Given the description of an element on the screen output the (x, y) to click on. 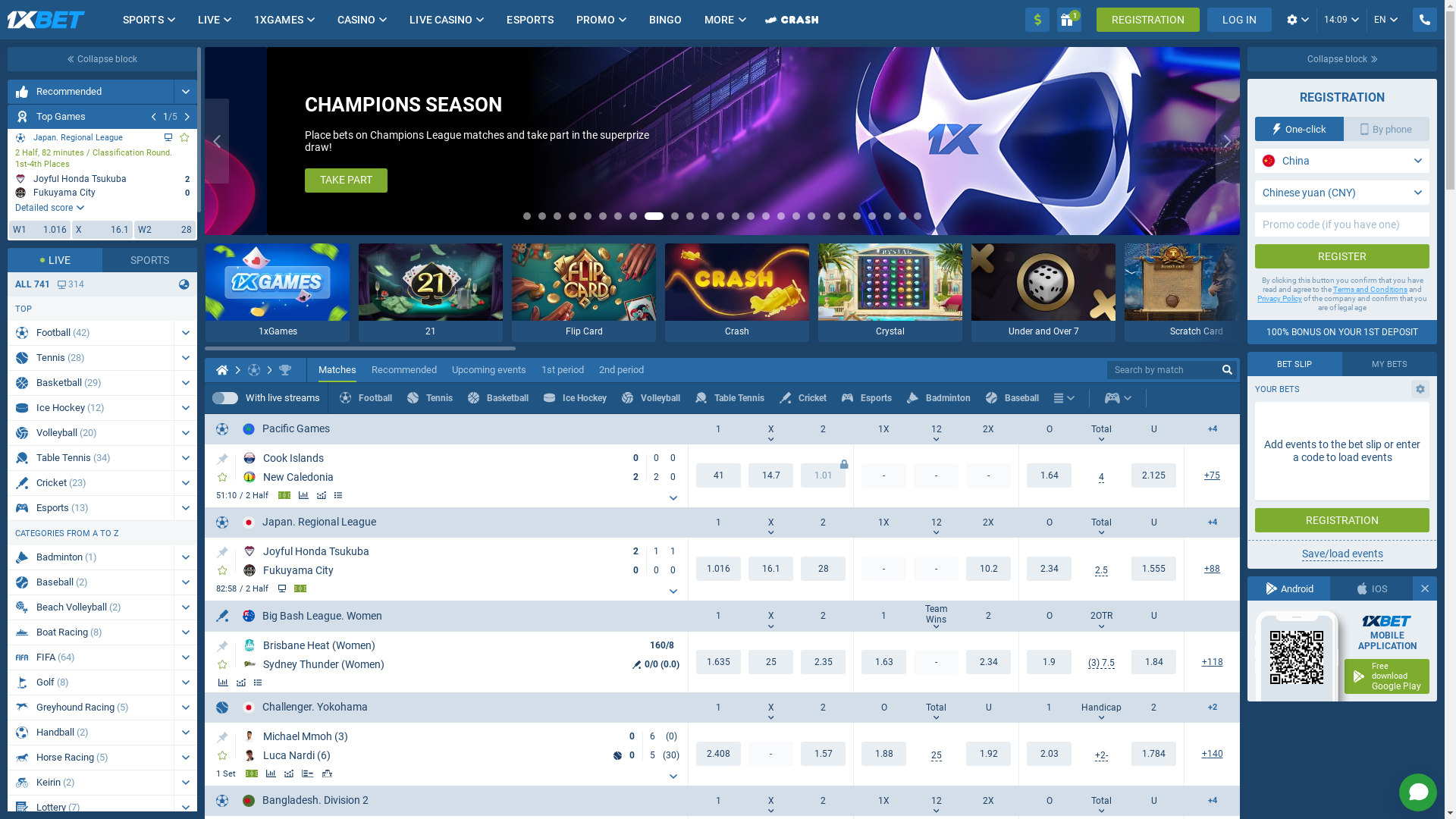
Tennis
29 Element type: text (90, 357)
Total Element type: text (935, 707)
136 Element type: text (1211, 753)
Big Bash League. Women Element type: text (312, 615)
+2.5- Element type: text (1101, 755)
Collapse block Element type: text (1342, 59)
Beach Volleyball
2 Element type: text (90, 607)
1XGAMES Element type: text (278, 19)
REGISTRATION Element type: text (1147, 19)
LIVE Element type: text (208, 19)
Michael Mmoh (3)
Luca Nardi (6)
0
0
6
5
(0)
(15) Element type: text (463, 745)
Cricket
24 Element type: text (90, 482)
Badminton
1 Element type: text (90, 557)
25 Element type: text (770, 661)
Ice Hockey
12 Element type: text (90, 407)
Japan. Regional League Element type: text (309, 521)
W1
1.016 Element type: text (39, 229)
14:08 Element type: text (1341, 19)
Volleyball
20 Element type: text (90, 432)
BINGO Element type: text (665, 19)
1 Element type: text (1069, 19)
- Element type: text (883, 475)
Basketball
29 Element type: text (90, 382)
1.62 Element type: text (883, 661)
- Element type: text (883, 568)
Total Element type: text (1101, 429)
1.88 Element type: text (988, 753)
1.64 Element type: text (1153, 568)
118 Element type: text (1211, 661)
MORE Element type: text (719, 19)
LIVE CASINO Element type: text (440, 19)
QR code for Android app Element type: hover (1295, 657)
21 Element type: text (430, 292)
Japan. Regional League. Joyful Honda Tsukuba - Fukuyama City Element type: hover (102, 184)
25.5 Element type: text (935, 755)
2OTR Element type: text (1101, 615)
Esports
13 Element type: text (90, 507)
2.5 Element type: text (1101, 570)
Total Element type: text (1101, 522)
- Element type: text (935, 475)
W2
28 Element type: text (164, 229)
X Element type: text (770, 800)
Greyhound Racing
5 Element type: text (90, 707)
Golf
8 Element type: text (90, 682)
1.9 Element type: text (1048, 661)
SPORTS Element type: text (142, 19)
+4 Element type: text (1211, 801)
(3) 7.5 Element type: text (1101, 662)
Cook Islands
New Caledonia
0
2
0
2
0
0 Element type: text (463, 467)
Football
41 Element type: text (90, 332)
CASINO Element type: text (356, 19)
+4 Element type: text (1211, 522)
EN Element type: text (1385, 19)
1.01 Element type: text (822, 475)
X
16.1 Element type: text (102, 229)
- Element type: text (935, 661)
X Element type: text (770, 707)
2.17 Element type: text (1048, 475)
4.5 Element type: text (1101, 477)
Handball
2 Element type: text (90, 732)
12 Element type: text (935, 429)
Brisbane Heat (Women)
Sydney Thunder (Women)
160/8
0/0 (0.0) Element type: text (463, 654)
1.84 Element type: text (1153, 661)
Flip Card Element type: text (583, 292)
12 Element type: text (935, 800)
X Element type: text (770, 429)
Total Element type: text (1101, 800)
1.92 Element type: text (883, 753)
+2 Element type: text (1211, 707)
41 Element type: text (718, 475)
12 Element type: text (935, 522)
1.645 Element type: text (1153, 475)
1.92 Element type: text (1153, 753)
16.1 Element type: text (770, 568)
Crash Element type: text (736, 292)
1xGames Element type: text (277, 292)
2.37 Element type: text (822, 661)
Horse Racing
5 Element type: text (90, 757)
Joyful Honda Tsukuba
Fukuyama City
2
0
1
0
1
0 Element type: text (463, 560)
75 Element type: text (1211, 475)
Pacific Games Element type: text (285, 428)
LOG IN Element type: text (1239, 19)
1.625 Element type: text (718, 661)
Challenger. Yokohama Element type: text (304, 706)
2.36 Element type: text (988, 661)
14.7 Element type: text (770, 475)
X Element type: text (770, 522)
Collapse block Element type: text (102, 59)
28 Element type: text (822, 568)
Table Tennis
35 Element type: text (90, 457)
Baseball
2 Element type: text (90, 582)
Bangladesh. Division 2 Element type: text (305, 799)
X Element type: text (770, 615)
1.65 Element type: text (822, 753)
1.88 Element type: text (1048, 753)
Team Wins Element type: text (935, 615)
ESPORTS Element type: text (529, 19)
Scratch Card Element type: text (1196, 292)
- Element type: text (935, 568)
PROMO Element type: text (595, 19)
2.235 Element type: text (718, 753)
1.016 Element type: text (718, 568)
10.2 Element type: text (988, 568)
Boat Racing
8 Element type: text (90, 632)
Detailed score Element type: text (49, 207)
Under and Over 7 Element type: text (1043, 292)
Keirin
2 Element type: text (90, 782)
- Element type: text (988, 475)
FIFA
64 Element type: text (90, 657)
Handicap Element type: text (1101, 707)
ALL 751 Element type: text (32, 284)
2.18 Element type: text (1048, 568)
- Element type: text (770, 753)
+4 Element type: text (1211, 429)
89 Element type: text (1211, 568)
320 Element type: text (70, 284)
Crystal Element type: text (890, 292)
